Given the description of an element on the screen output the (x, y) to click on. 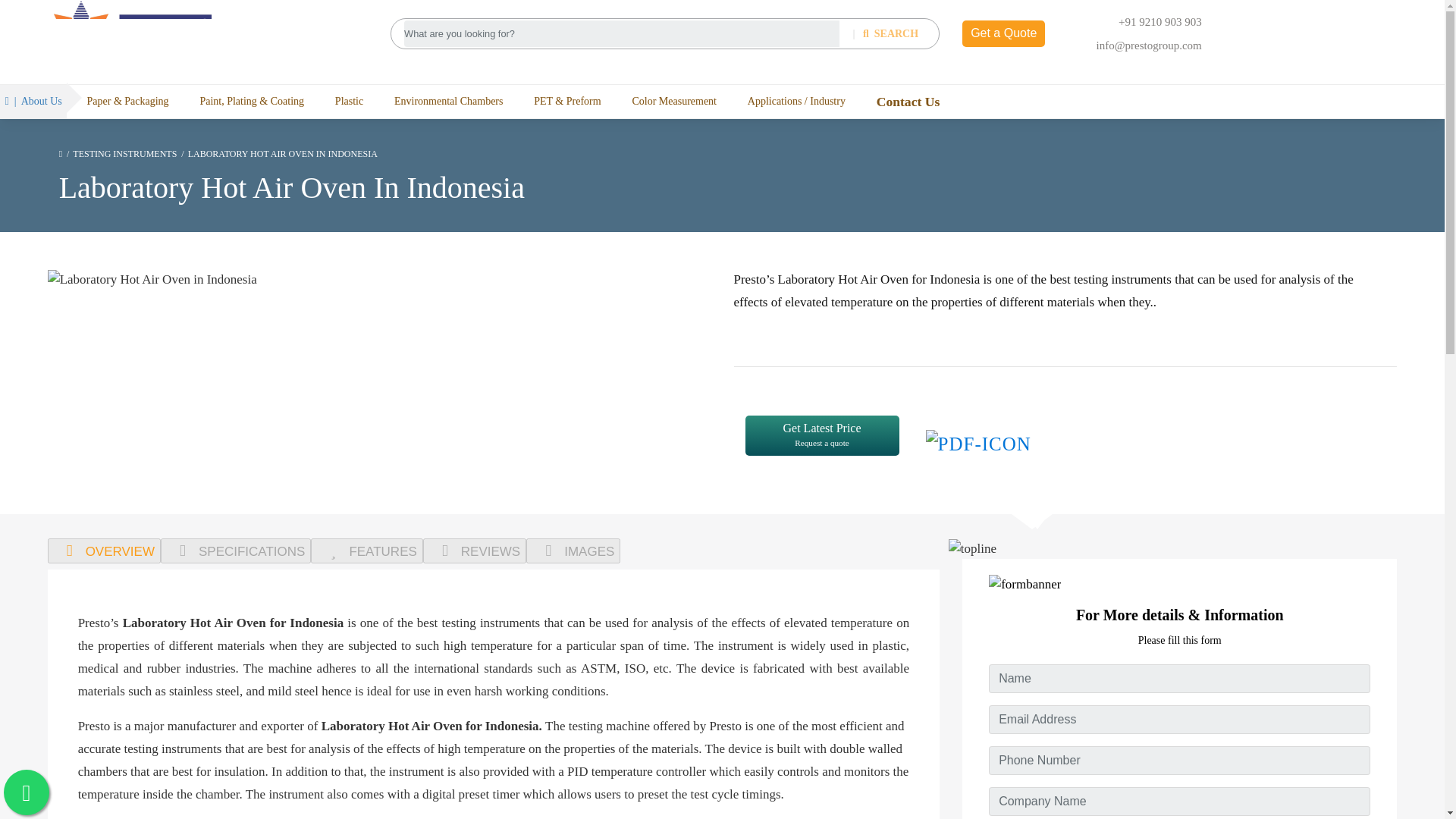
Contact Us (908, 101)
Get a Quote (1003, 33)
Environmental Chambers (448, 100)
Plastic (349, 100)
OVERVIEWSPECIFICATIONSFEATURESREVIEWSIMAGES (494, 551)
Color Measurement (674, 100)
View PDF (964, 441)
